Given the description of an element on the screen output the (x, y) to click on. 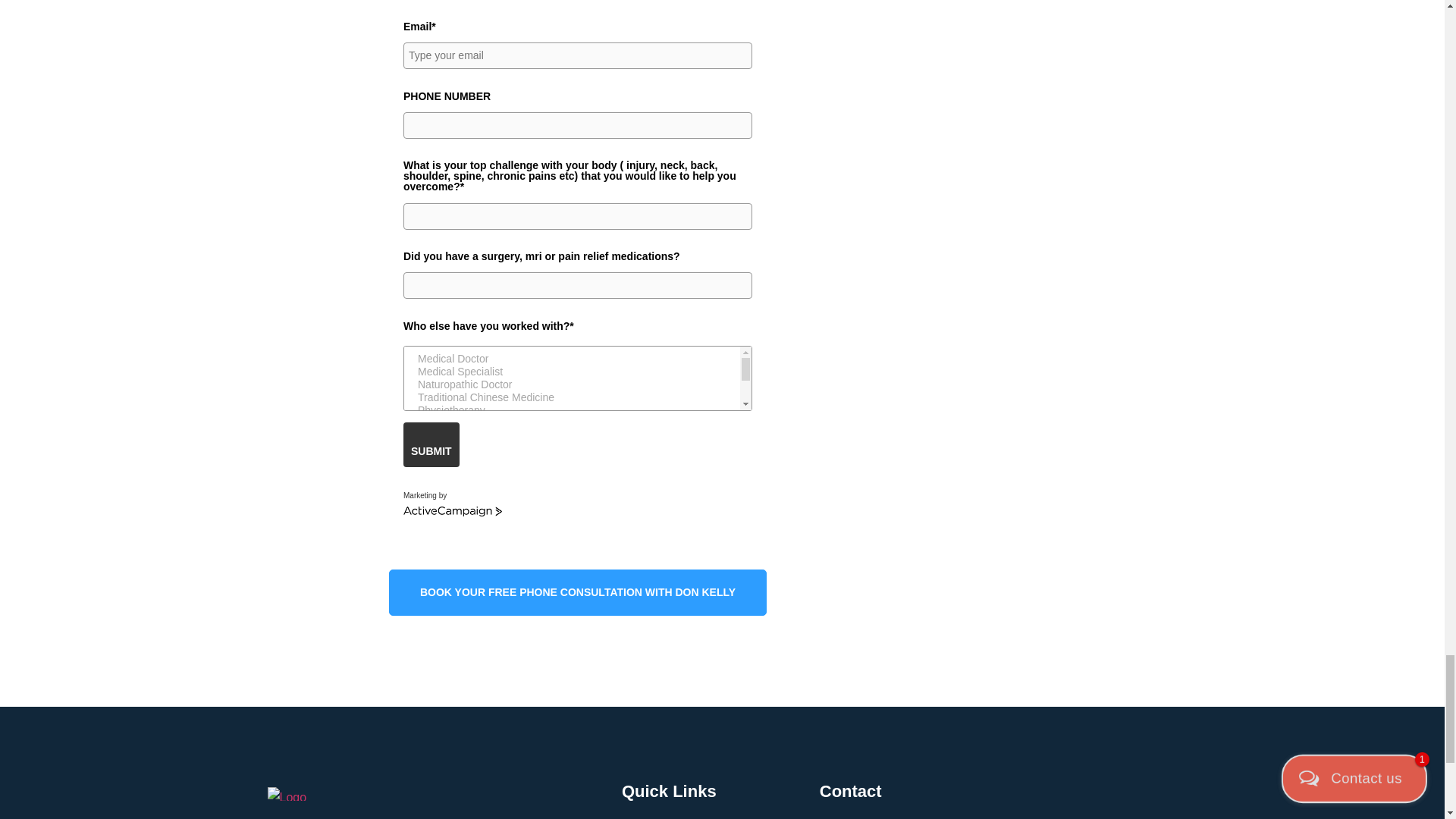
BOOK YOUR FREE PHONE CONSULTATION WITH DON KELLY (577, 592)
ActiveCampaign (452, 511)
SUBMIT (431, 444)
